Given the description of an element on the screen output the (x, y) to click on. 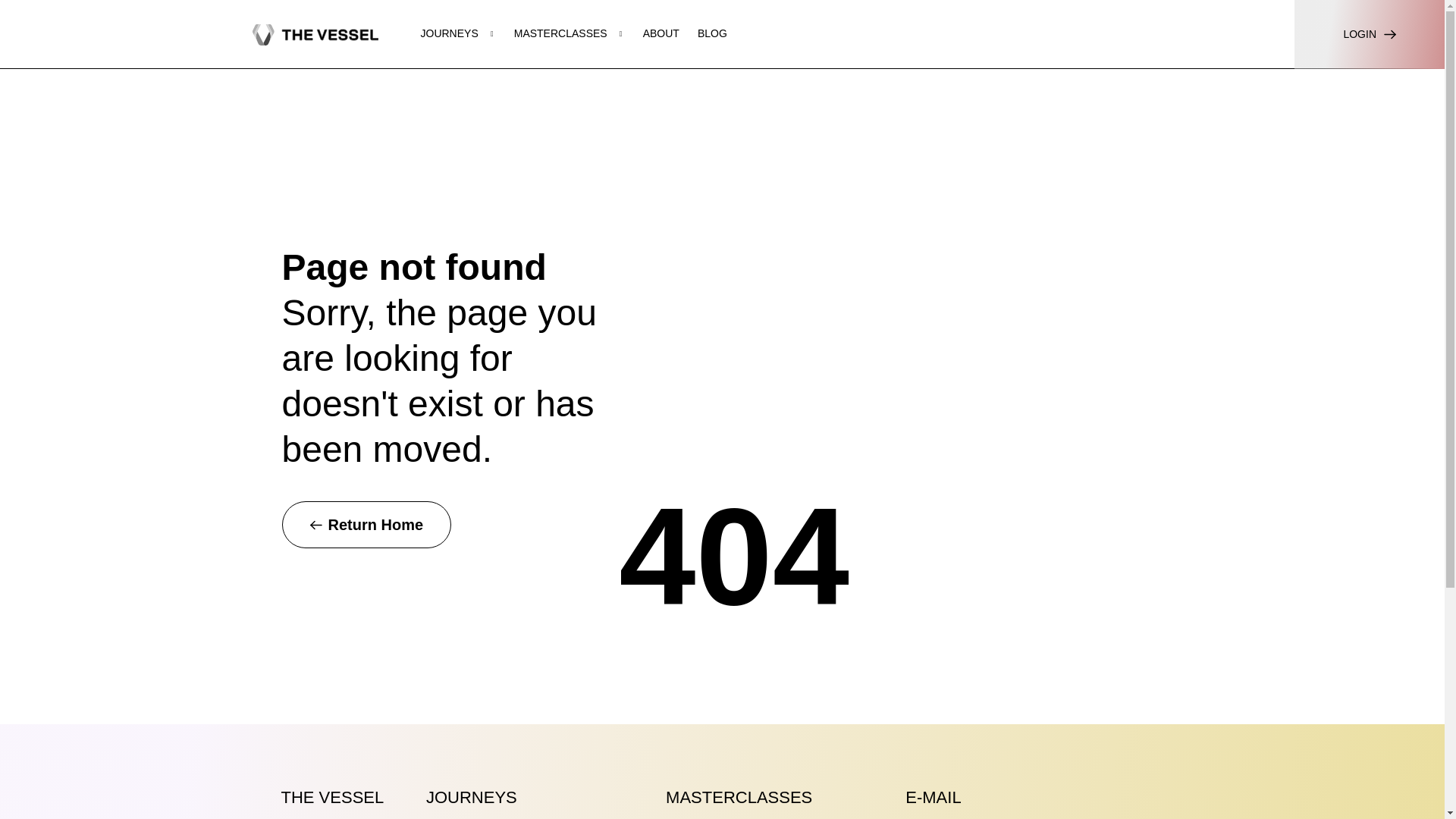
ABOUT (661, 33)
BLOG (711, 33)
Return Home (366, 524)
